Given the description of an element on the screen output the (x, y) to click on. 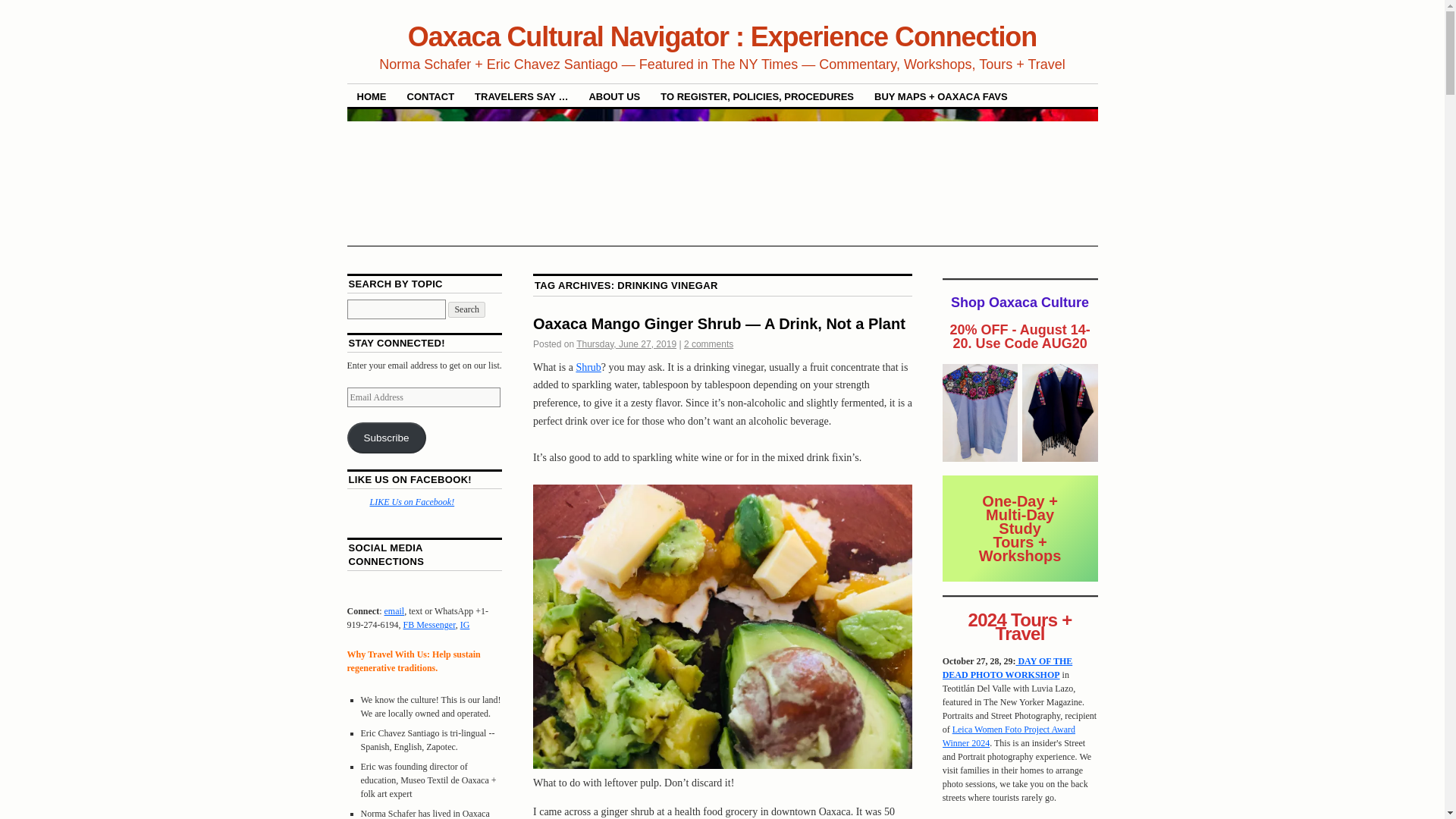
Shrub (587, 367)
TO REGISTER, POLICIES, PROCEDURES (756, 96)
CONTACT (430, 96)
Thursday, June 27, 2019 (626, 344)
Search (466, 309)
Oaxaca Cultural Navigator : Experience Connection (721, 36)
Search (466, 309)
2 comments (708, 344)
ABOUT US (613, 96)
Oaxaca Cultural Navigator : Experience Connection (721, 36)
